Given the description of an element on the screen output the (x, y) to click on. 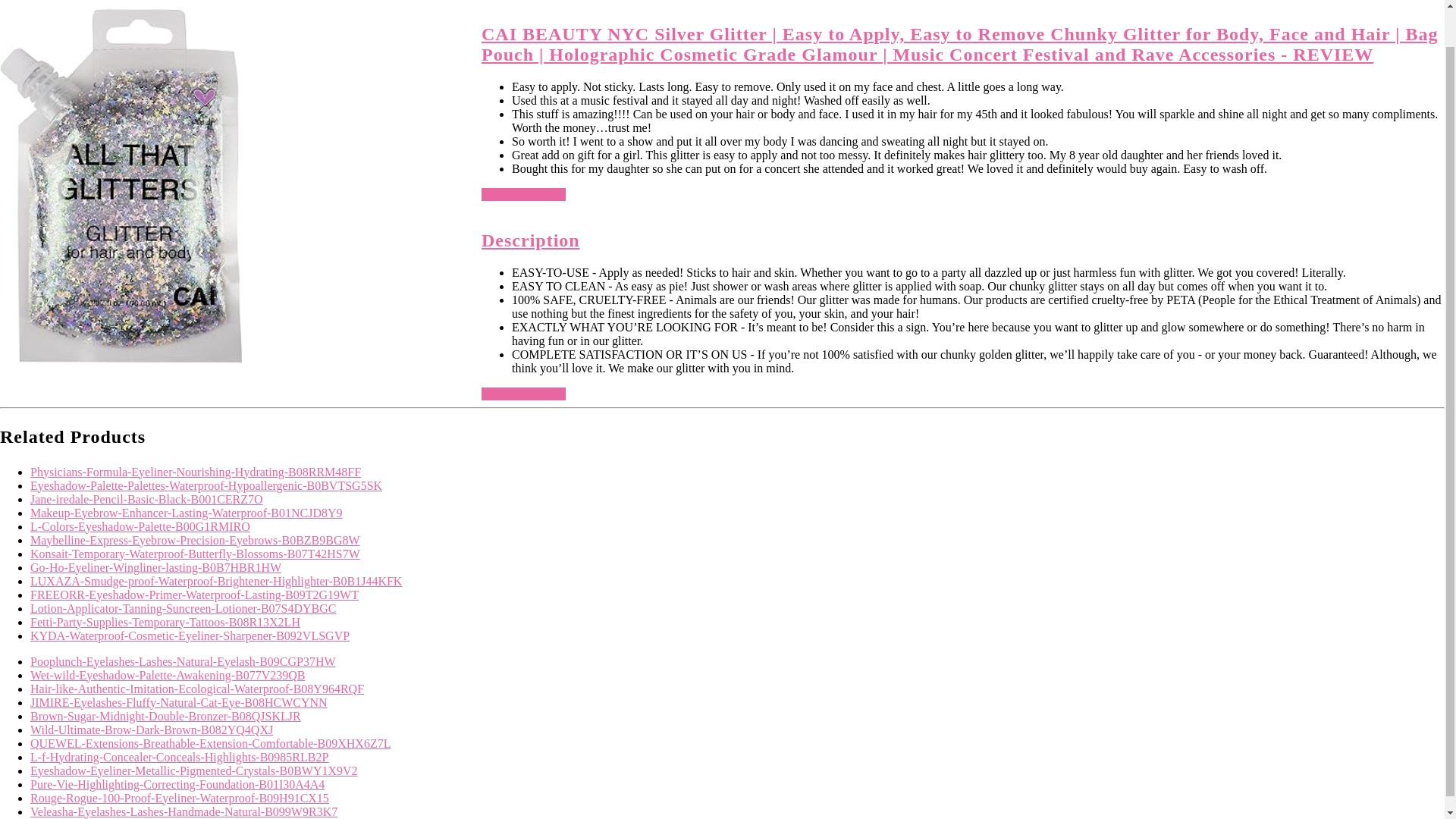
Konsait-Temporary-Waterproof-Butterfly-Blossoms-B07T42HS7W (194, 553)
JIMIRE-Eyelashes-Fluffy-Natural-Cat-Eye-B08HCWCYNN (178, 702)
Eyeshadow-Eyeliner-Metallic-Pigmented-Crystals-B0BWY1X9V2 (194, 770)
Rouge-Rogue-100-Proof-Eyeliner-Waterproof-B09H91CX15 (179, 797)
Lotion-Applicator-Tanning-Suncreen-Lotioner-B07S4DYBGC (183, 608)
Pooplunch-Eyelashes-Lashes-Natural-Eyelash-B09CGP37HW (183, 661)
Fetti-Party-Supplies-Temporary-Tattoos-B08R13X2LH (164, 621)
wild-Ultimate-Brow-Dark-Brown-B082YQ4QXJ (151, 729)
View on Amazon (523, 194)
l-f-Hydrating-Concealer-Conceals-Highlights-B0985RLB2P (179, 757)
jane-iredale-Pencil-Basic-Black-B001CERZ7O (146, 499)
KYDA-Waterproof-Cosmetic-Eyeliner-Sharpener-B092VLSGVP (189, 635)
Pure-Vie-Highlighting-Correcting-Foundation-B01I30A4A4 (177, 784)
Makeup-Eyebrow-Enhancer-Lasting-Waterproof-B01NCJD8Y9 (186, 512)
